Given the description of an element on the screen output the (x, y) to click on. 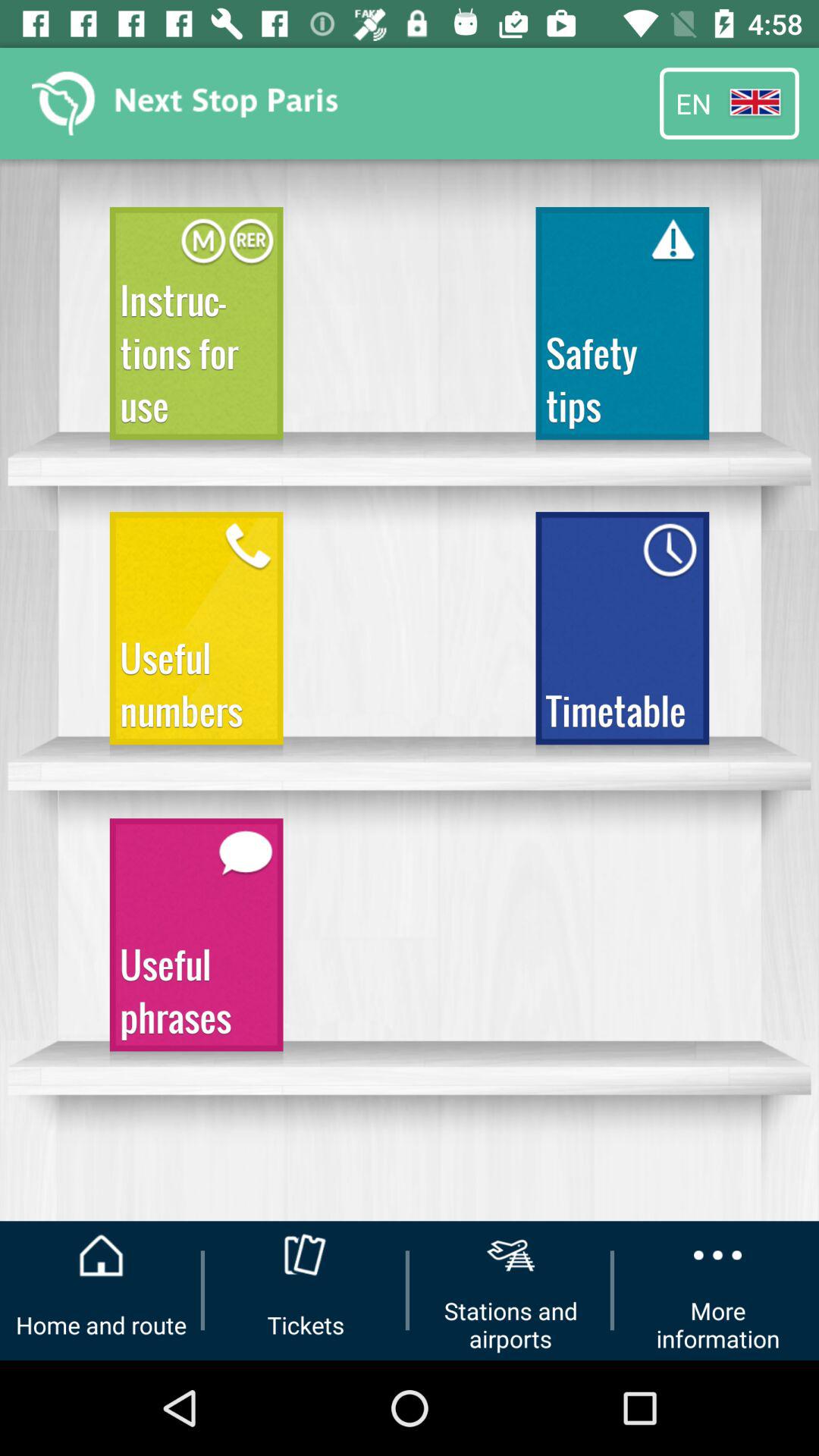
scroll to instructions for use item (196, 330)
